Given the description of an element on the screen output the (x, y) to click on. 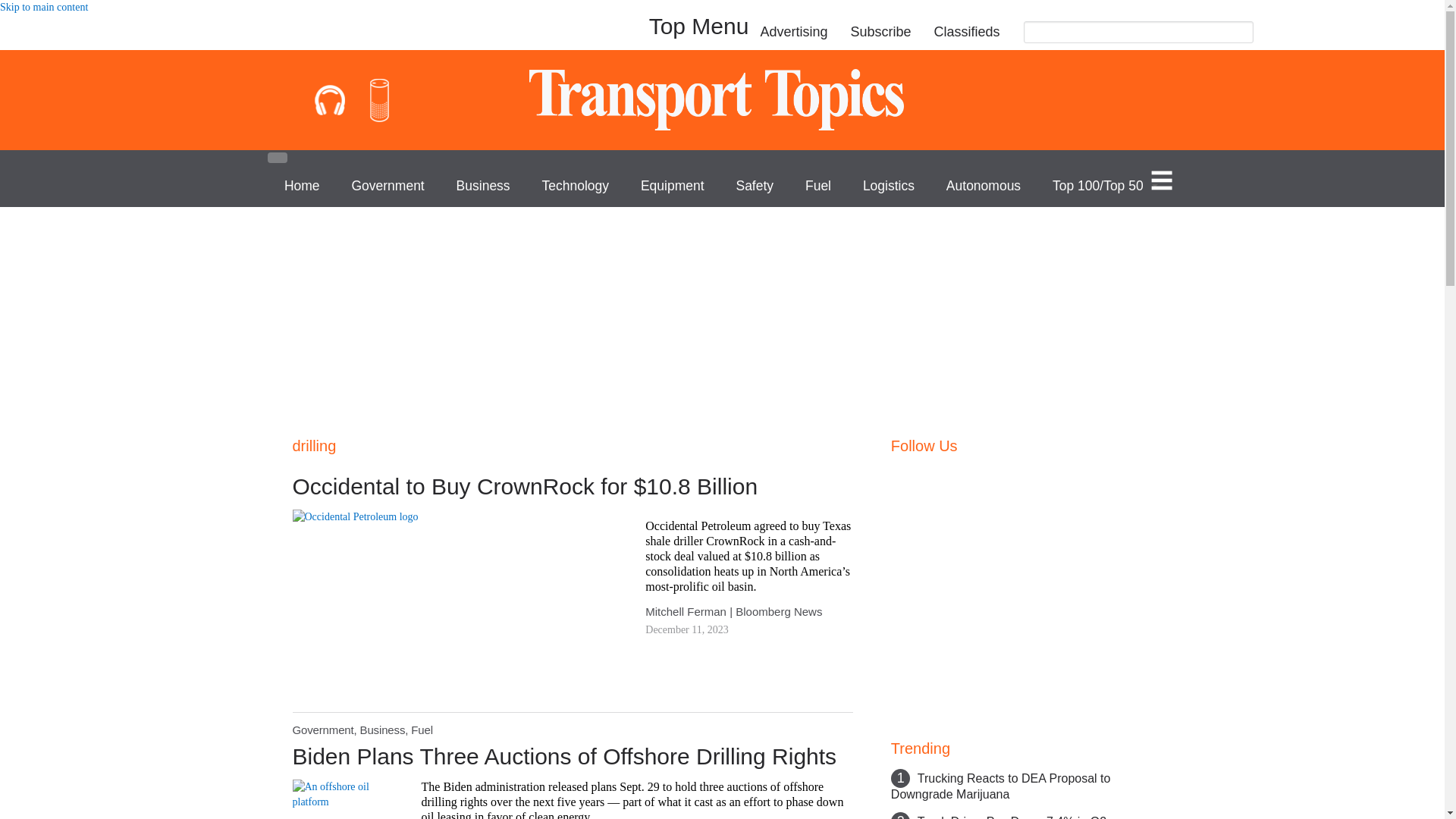
Mobile menu (276, 157)
Home (721, 99)
Skip to main content (43, 7)
Apply (1234, 36)
Follow us on LinkedIn (1018, 476)
Classifieds (965, 32)
Follow us on Twitter (934, 476)
Daily Briefings on Your Smart Speaker (379, 100)
Subscribe (879, 32)
Advertising (793, 32)
